Given the description of an element on the screen output the (x, y) to click on. 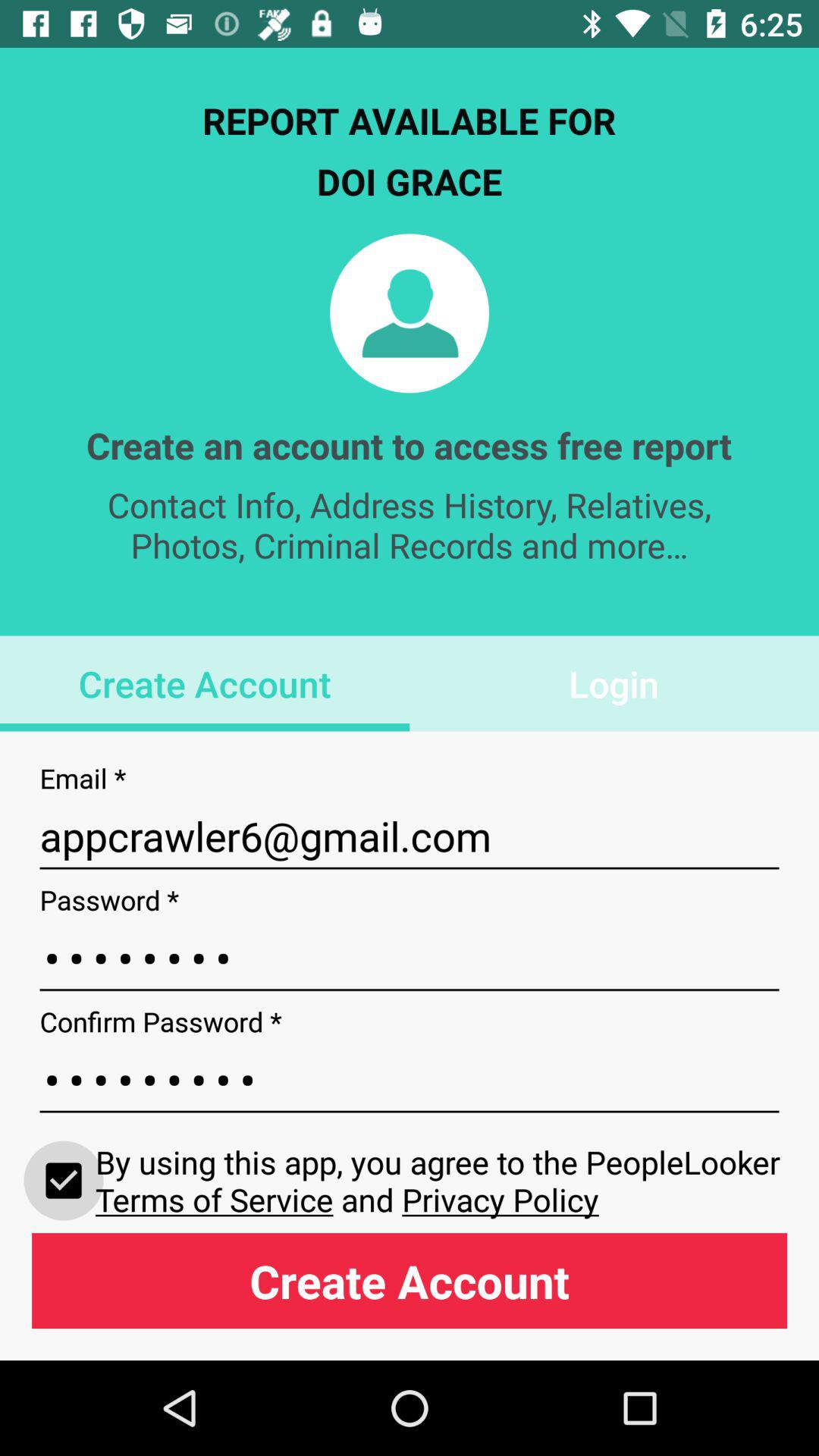
jump until the by using this (441, 1180)
